Given the description of an element on the screen output the (x, y) to click on. 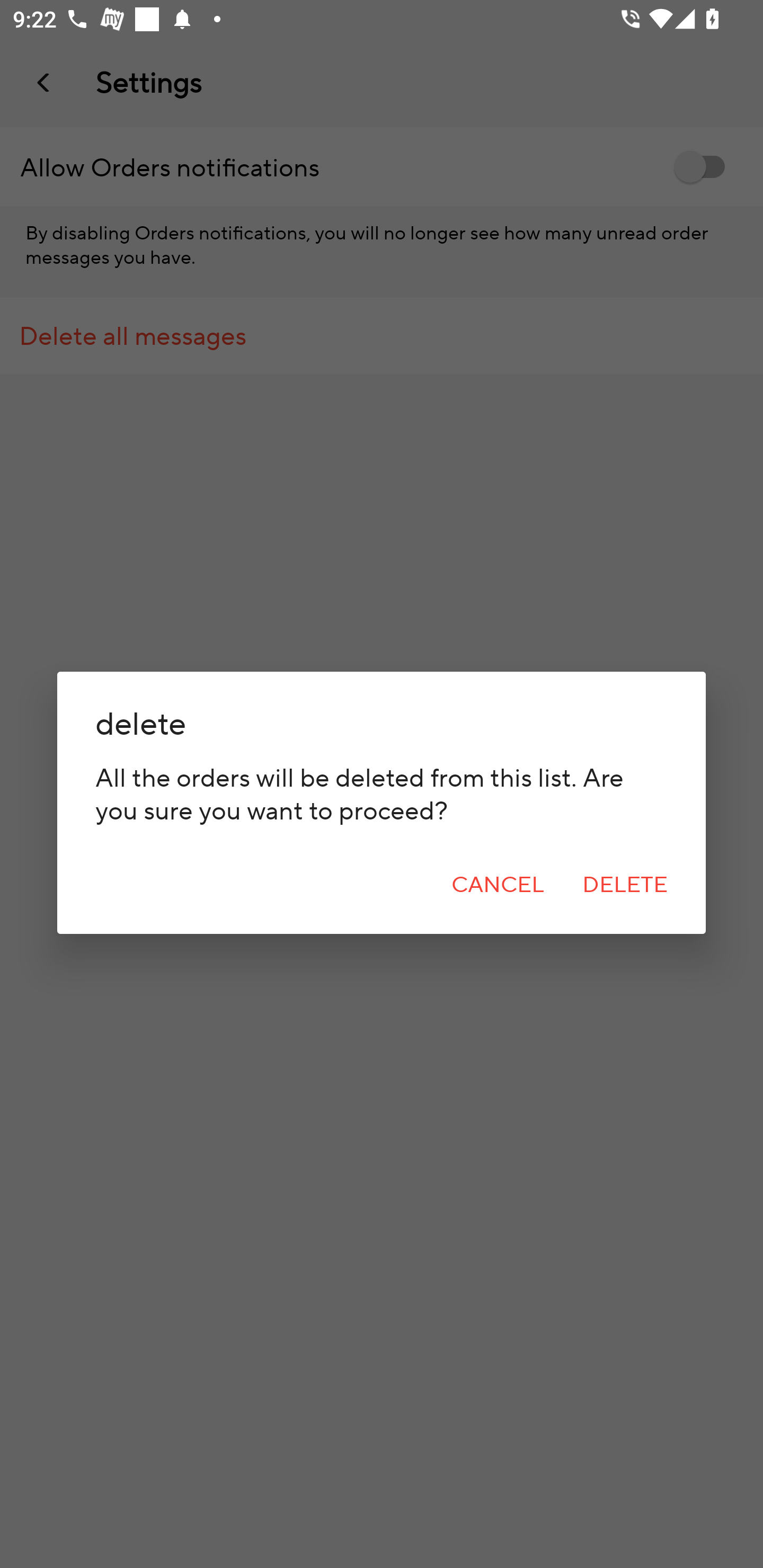
CANCEL (497, 885)
DELETE (624, 885)
